Given the description of an element on the screen output the (x, y) to click on. 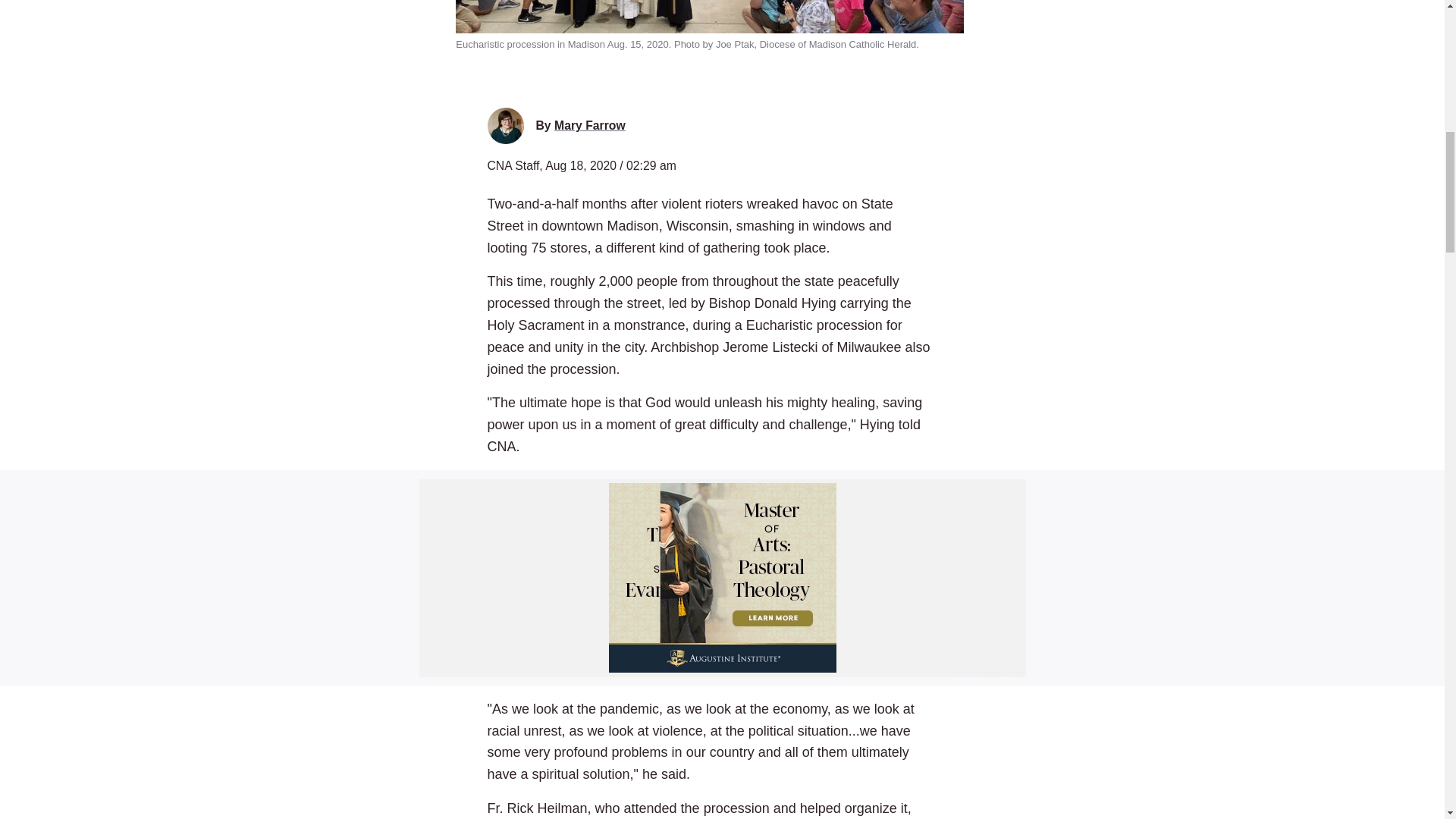
3rd party ad content (722, 578)
